Given the description of an element on the screen output the (x, y) to click on. 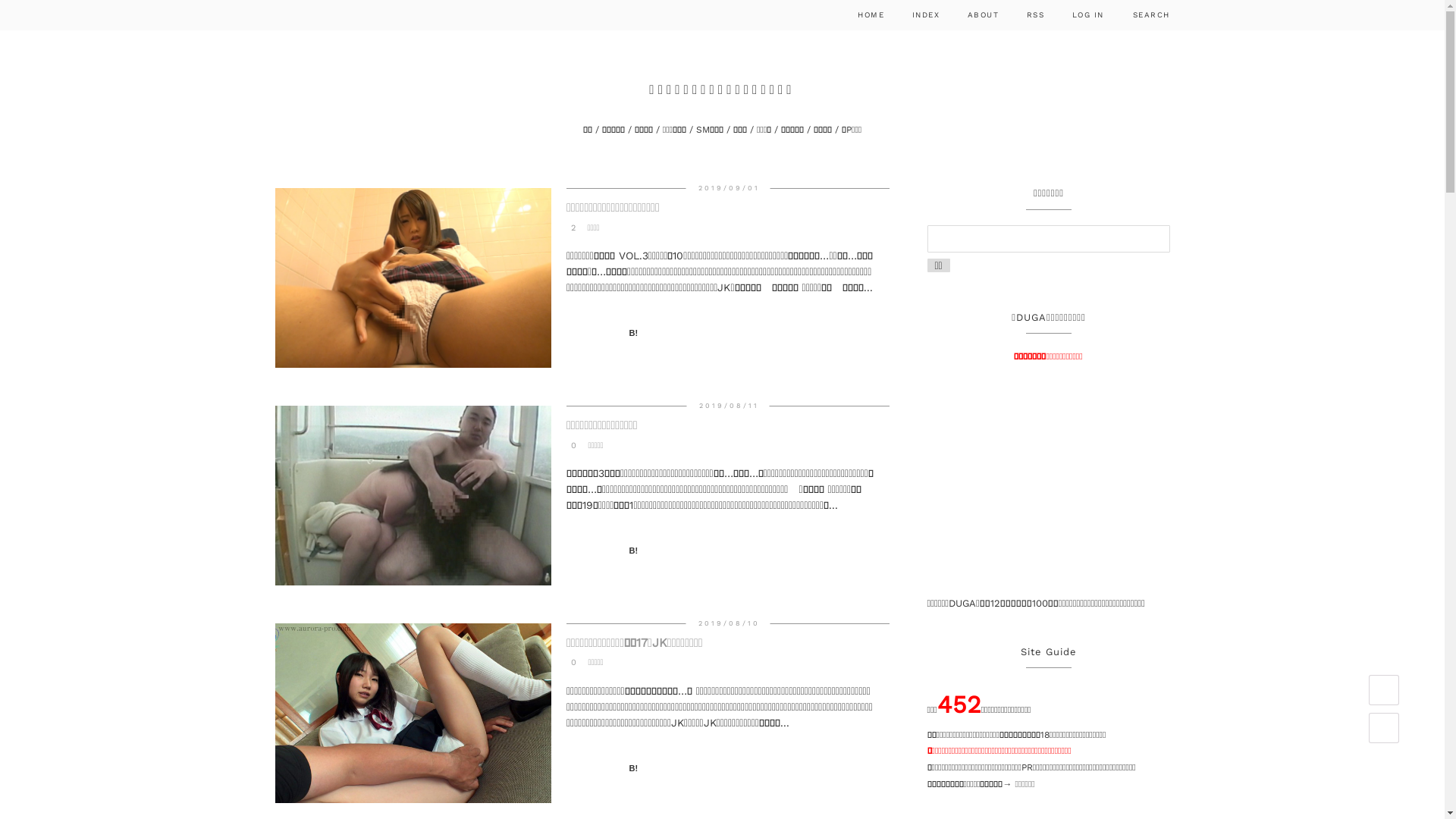
HOME Element type: text (870, 15)
INDEX Element type: text (924, 15)
2 Element type: text (570, 227)
ABOUT Element type: text (982, 15)
B! Element type: text (642, 333)
0 Element type: text (571, 662)
0 Element type: text (571, 444)
RSS Element type: text (1034, 15)
B! Element type: text (642, 768)
LOG IN Element type: text (1087, 15)
B! Element type: text (642, 550)
